Given the description of an element on the screen output the (x, y) to click on. 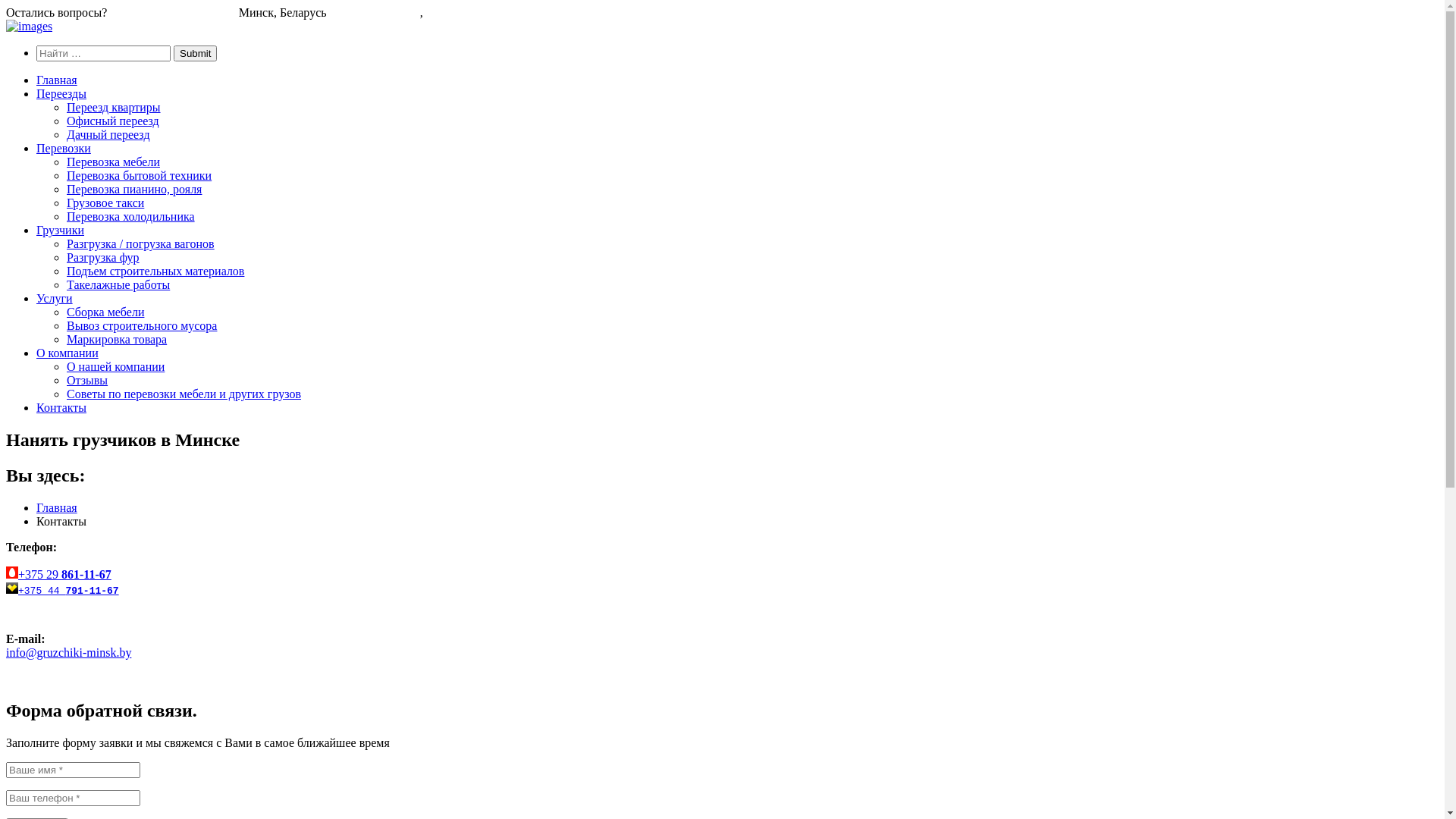
+37529 861-11-67 Element type: text (374, 12)
MTC Element type: hover (12, 587)
MTC Element type: hover (12, 572)
info@gruzchiki-minsk.by Element type: text (68, 652)
+37544 791-11-67 Element type: text (471, 12)
+375 44 791-11-67 Element type: text (68, 589)
+375 29 861-11-67 Element type: text (64, 573)
info@gruzchiki-minsk.by Element type: text (172, 12)
